Given the description of an element on the screen output the (x, y) to click on. 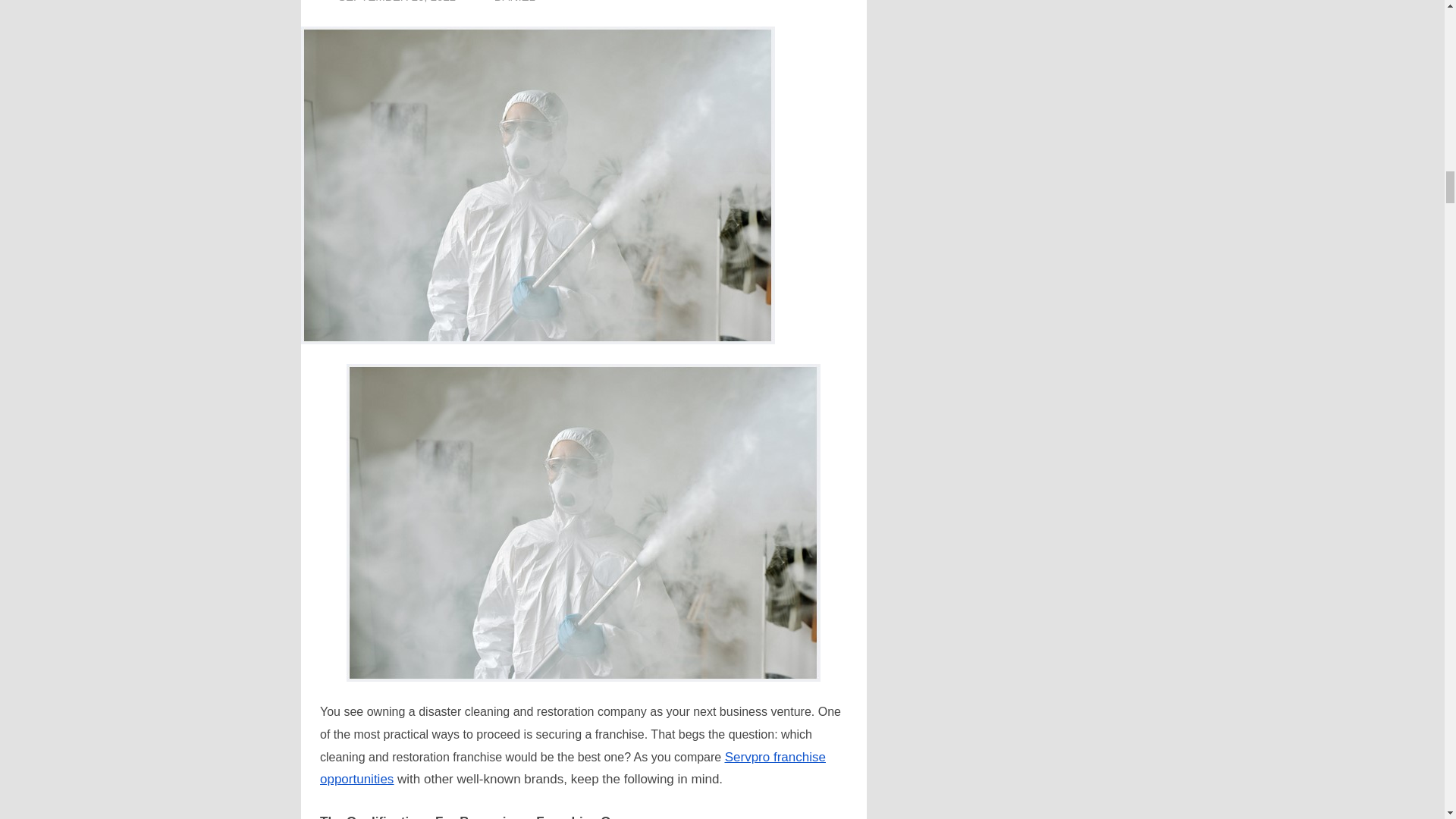
View all posts by Daniel (515, 1)
DANIEL (515, 1)
Servpro franchise opportunities (572, 768)
12:40 pm (396, 1)
SEPTEMBER 26, 2022 (396, 1)
